Given the description of an element on the screen output the (x, y) to click on. 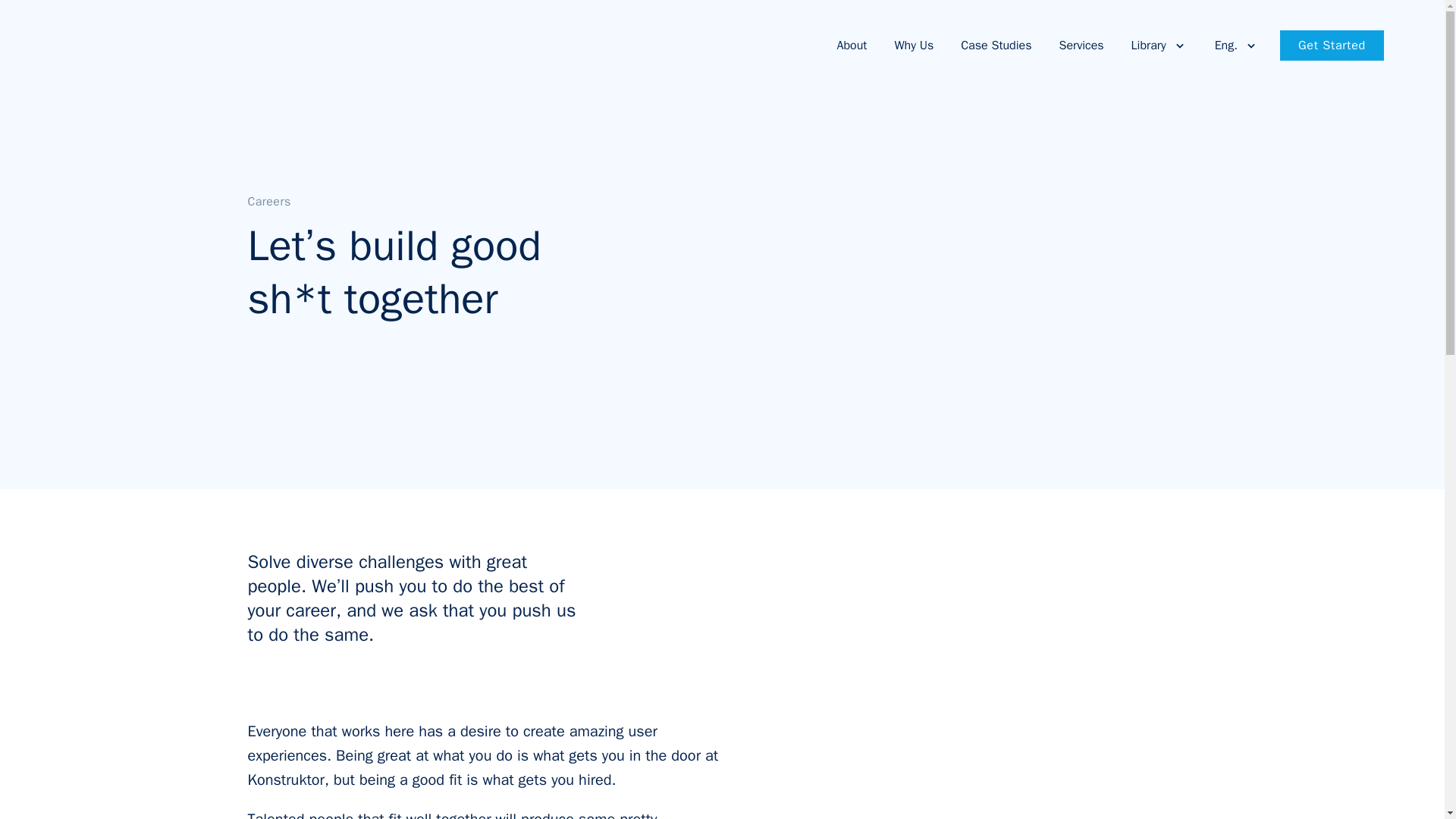
About (849, 45)
Get Started (1331, 45)
Konstruktor (121, 45)
Services (1076, 45)
Why Us (909, 45)
Library (1154, 45)
Case Studies (990, 45)
Eng. (1232, 45)
